Given the description of an element on the screen output the (x, y) to click on. 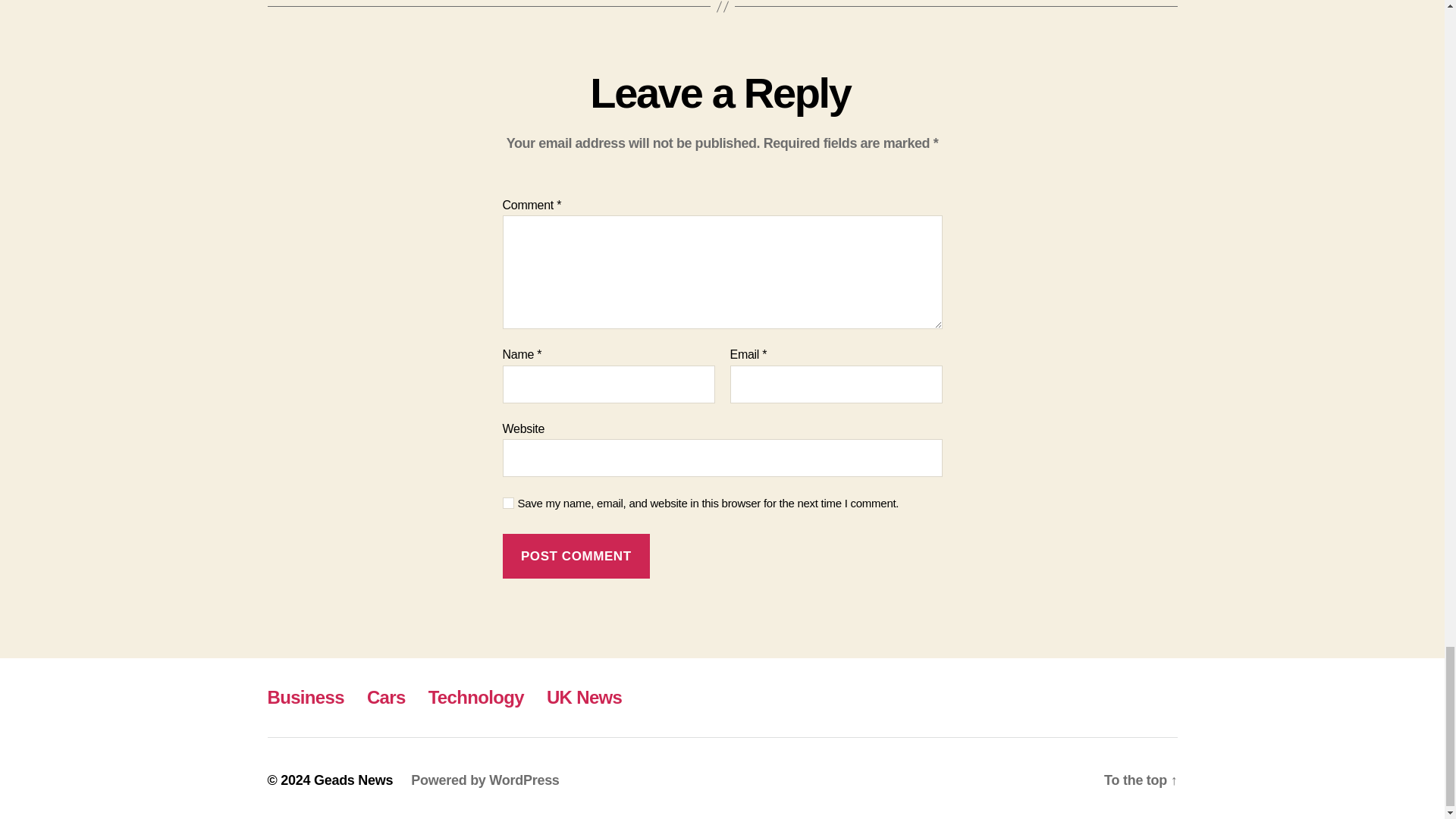
Business (304, 697)
yes (507, 502)
Technology (476, 697)
Post Comment (575, 555)
Post Comment (575, 555)
UK News (584, 697)
Cars (386, 697)
